Given the description of an element on the screen output the (x, y) to click on. 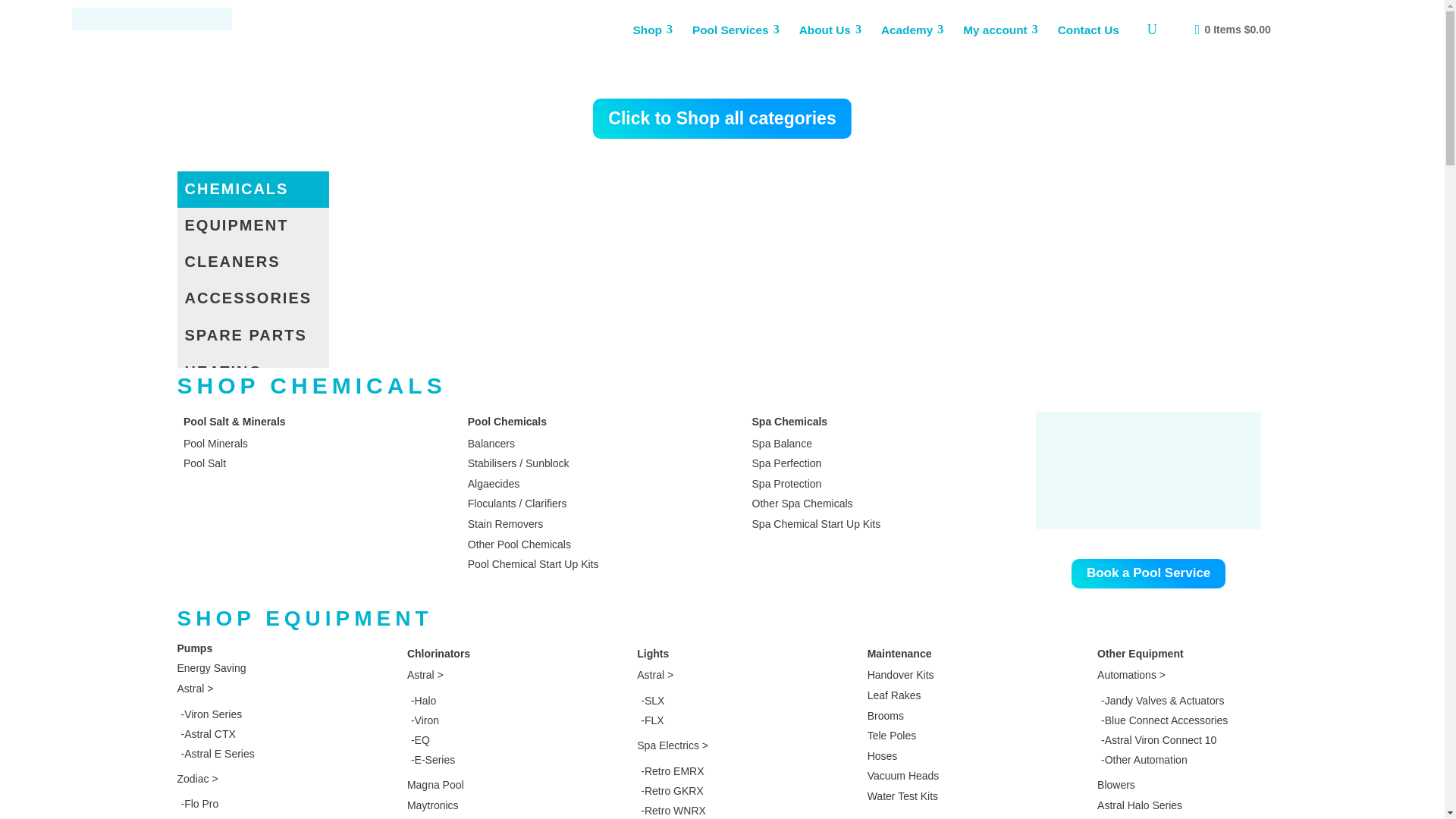
Pool Services (736, 30)
My account (1000, 30)
Shop (652, 30)
Pool Builder Logo Horizontal (151, 18)
pool-shop-03 (1147, 470)
Academy (912, 30)
About Us (831, 30)
